Given the description of an element on the screen output the (x, y) to click on. 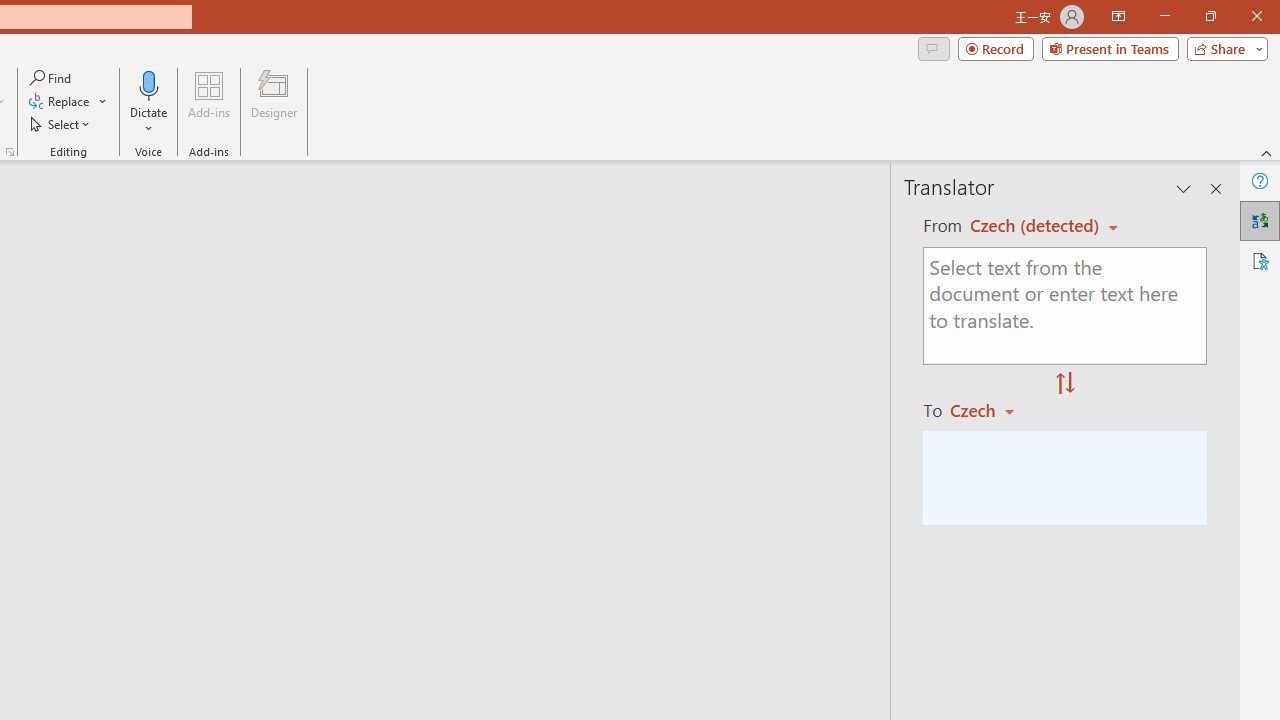
Copilot (Ctrl+Shift+.) (1241, 82)
icon (591, 198)
